Given the description of an element on the screen output the (x, y) to click on. 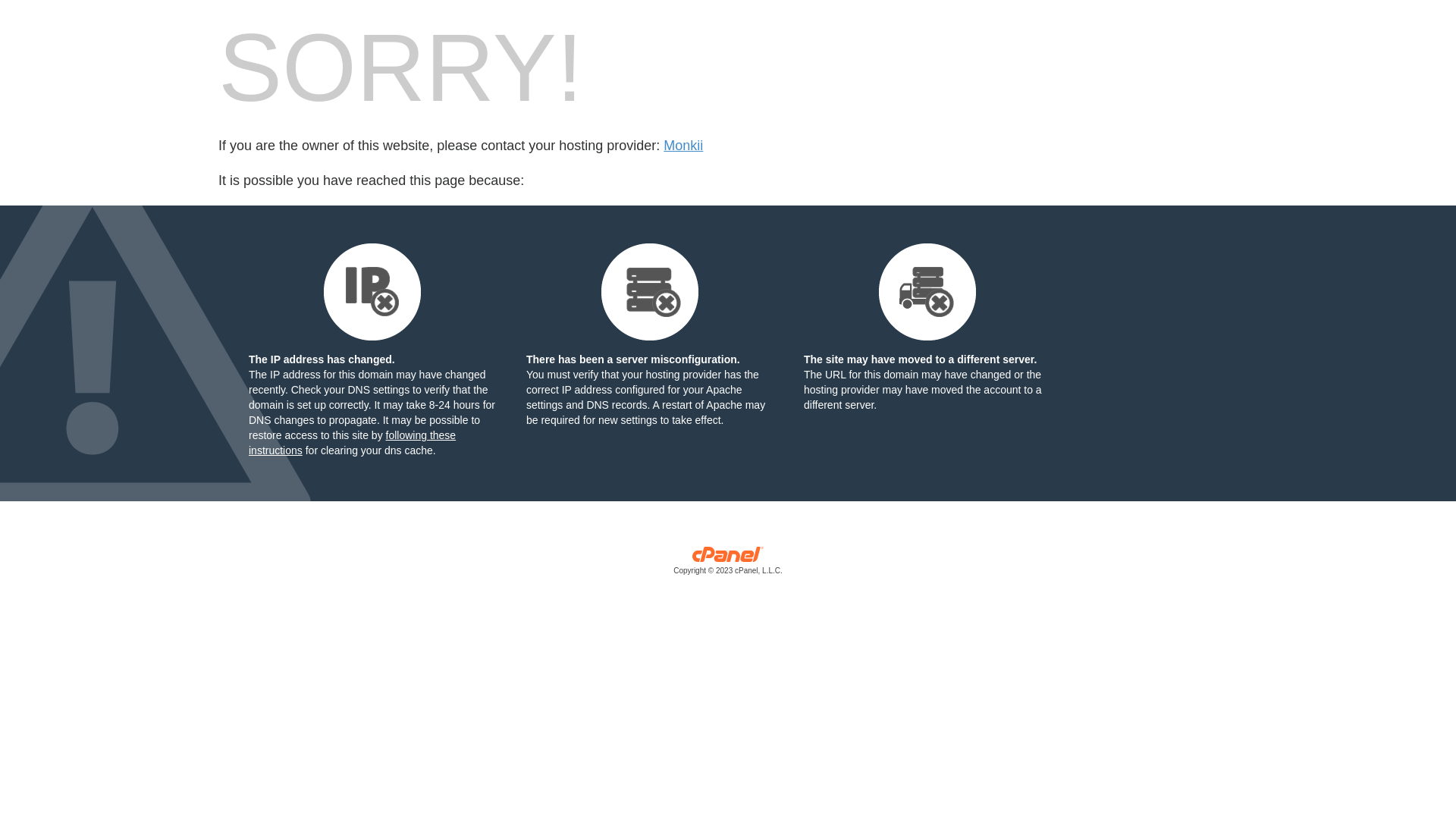
Monkii Element type: text (682, 145)
following these instructions Element type: text (351, 442)
